Given the description of an element on the screen output the (x, y) to click on. 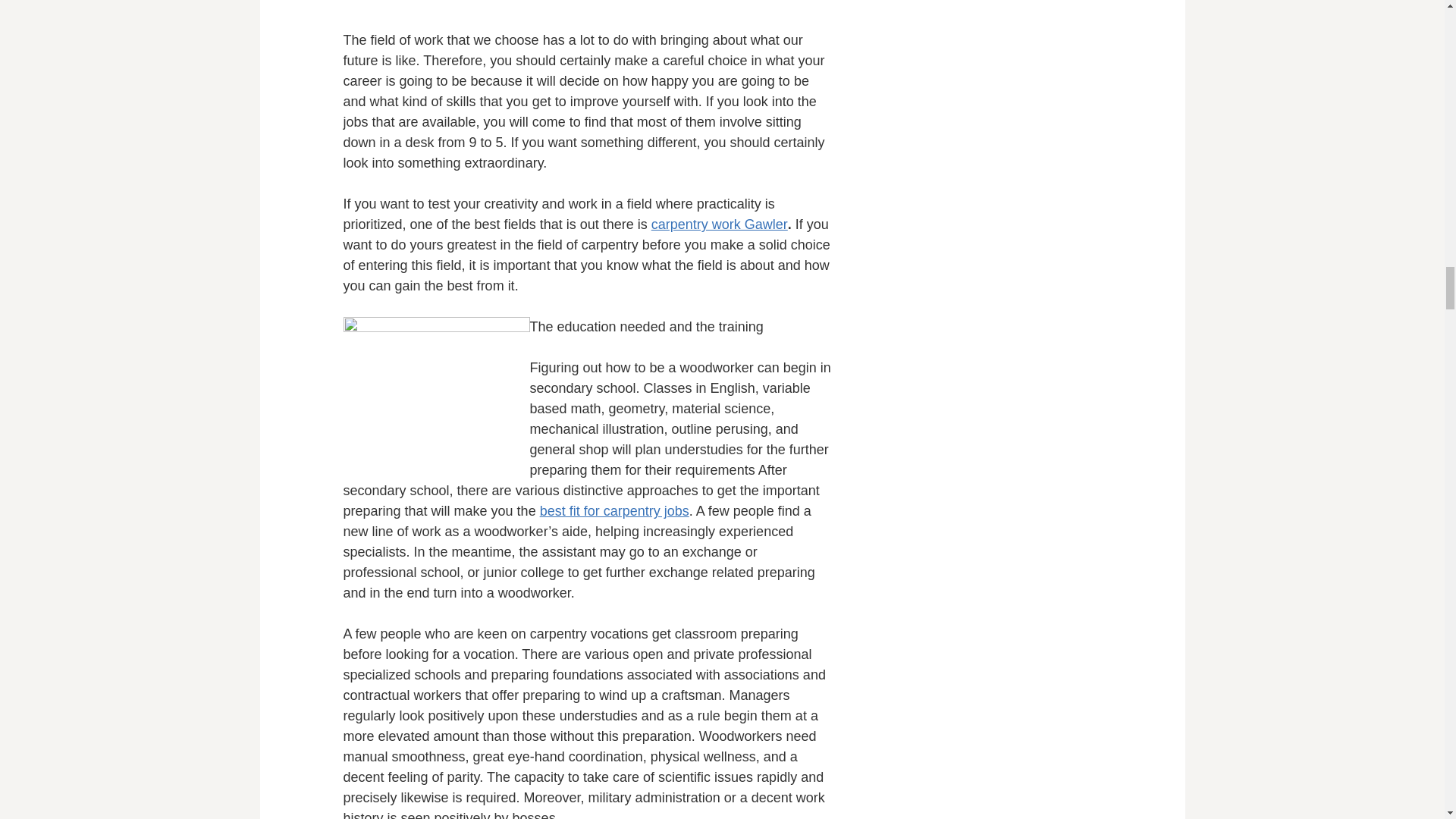
regionalcarpentry.jpg (435, 392)
best fit for carpentry jobs (614, 510)
carpentry work Gawler (718, 224)
